Given the description of an element on the screen output the (x, y) to click on. 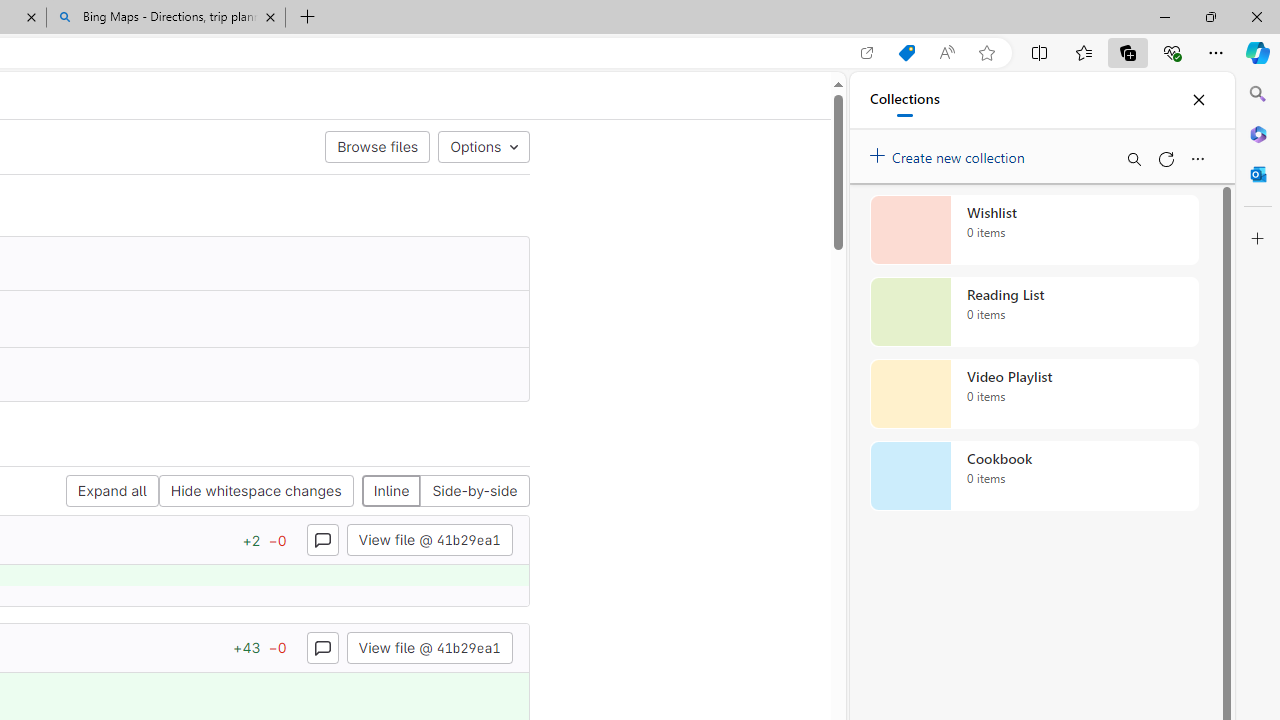
Wishlist collection, 0 items (1034, 229)
Inline (391, 491)
Create new collection (950, 153)
Hide whitespace changes (255, 491)
Open in app (867, 53)
Reading List collection, 0 items (1034, 312)
